Given the description of an element on the screen output the (x, y) to click on. 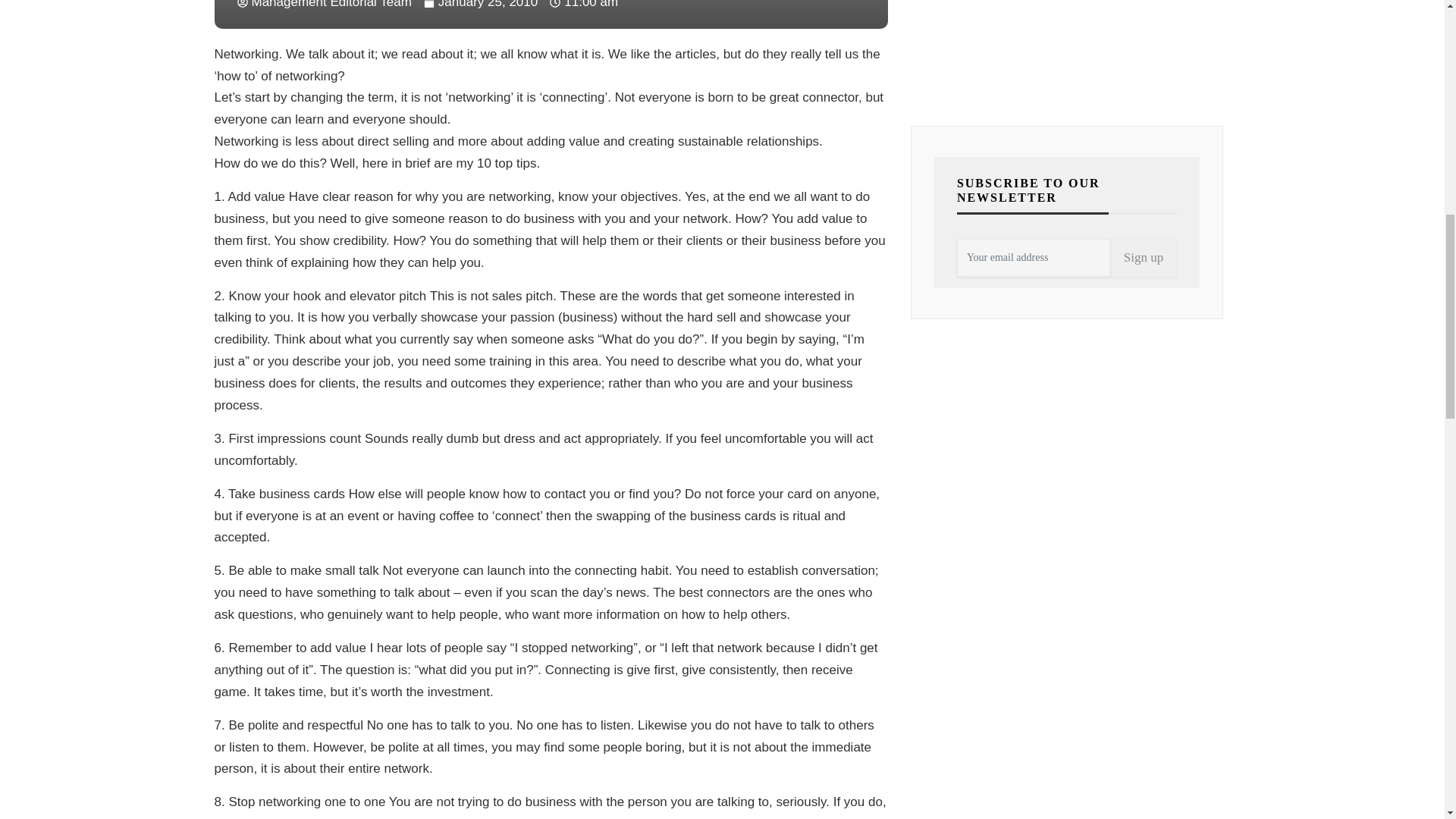
3rd party ad content (1066, 44)
Sign up (1143, 257)
